Given the description of an element on the screen output the (x, y) to click on. 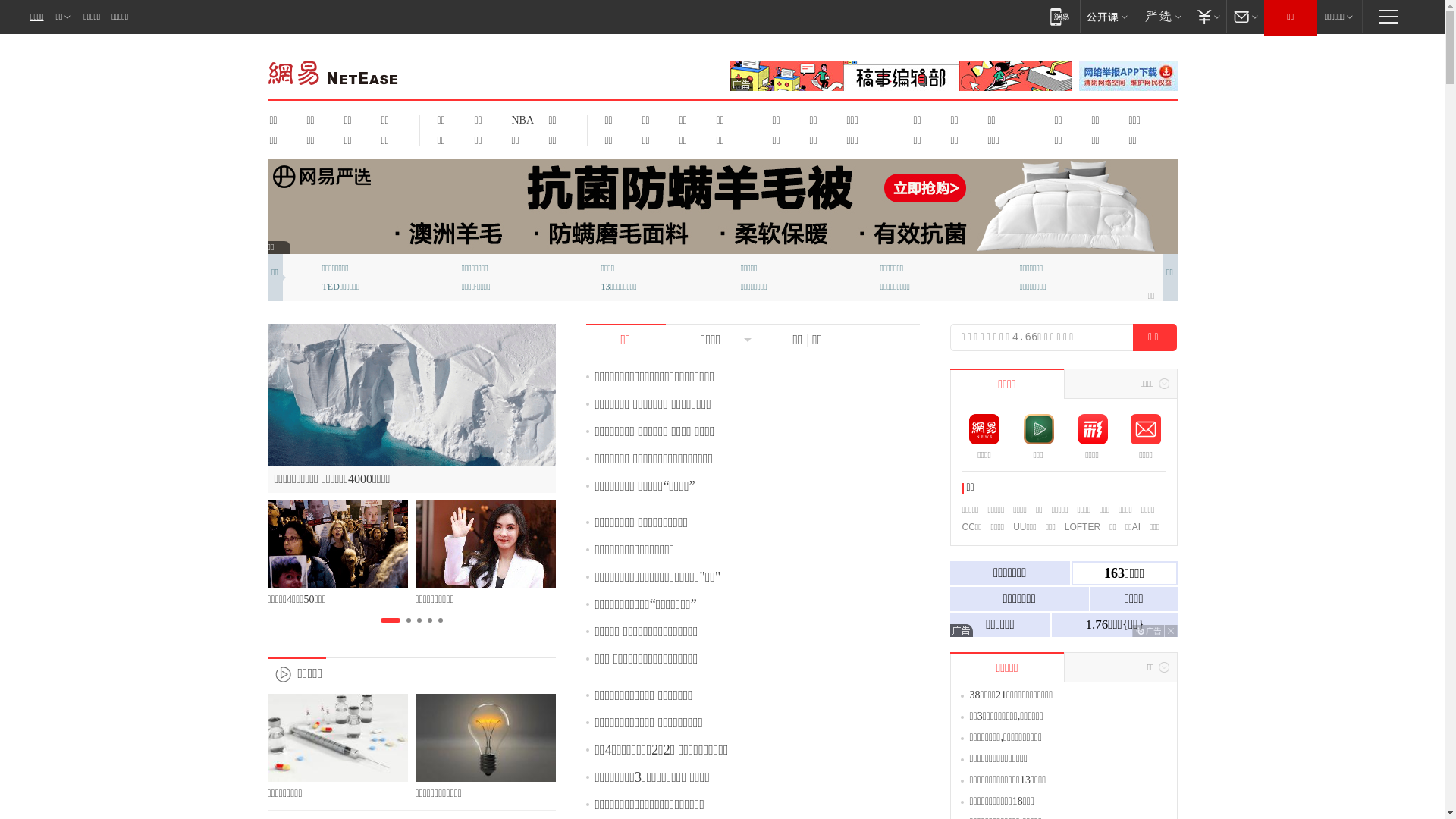
LOFTER Element type: text (1082, 526)
NBA Element type: text (520, 119)
